Given the description of an element on the screen output the (x, y) to click on. 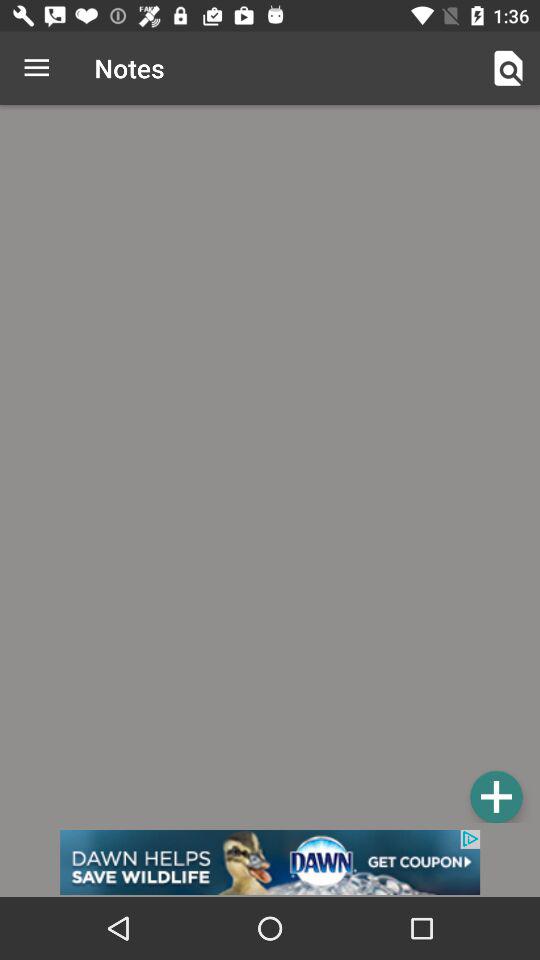
go to advertisement (270, 861)
